Given the description of an element on the screen output the (x, y) to click on. 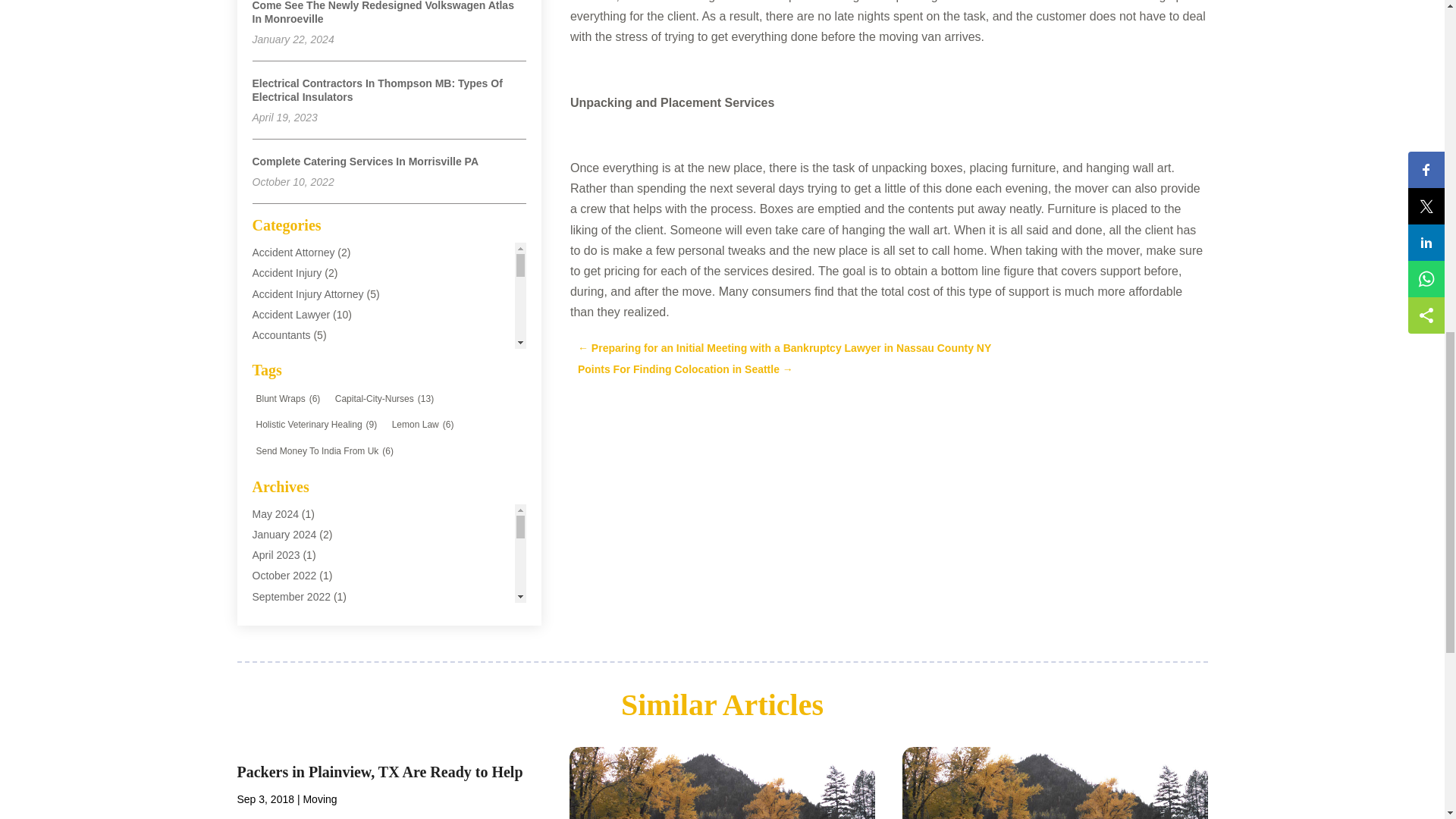
Air Conditioning (288, 541)
Accountants (280, 335)
Accident Injury (286, 272)
Complete Catering Services In Morrisville PA (365, 161)
Agriculture And Forestry (308, 500)
Accounting (277, 355)
Accident Injury Attorney (306, 294)
Accident Lawyer (290, 314)
Accident Attorney (292, 252)
Air Conditioner (286, 521)
Adhesives (276, 417)
Addiction Treatment Center (315, 397)
Adventure And Sports (303, 458)
